Given the description of an element on the screen output the (x, y) to click on. 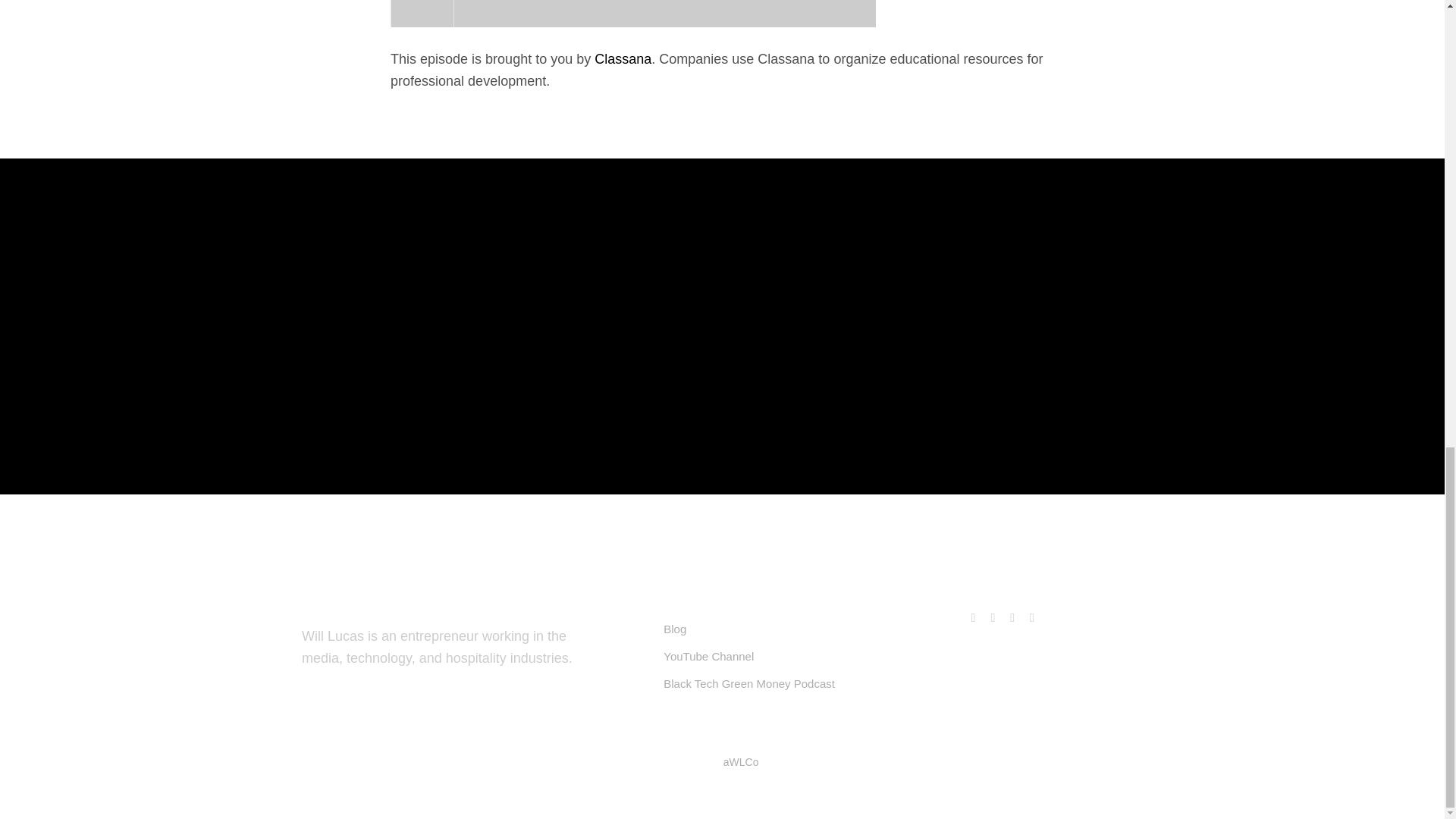
aWLCo (740, 761)
Blog (674, 628)
YouTube Channel (708, 656)
WILL LUCAS LOGO (135, 620)
Classana (622, 58)
Black Tech Green Money Podcast (748, 683)
